Given the description of an element on the screen output the (x, y) to click on. 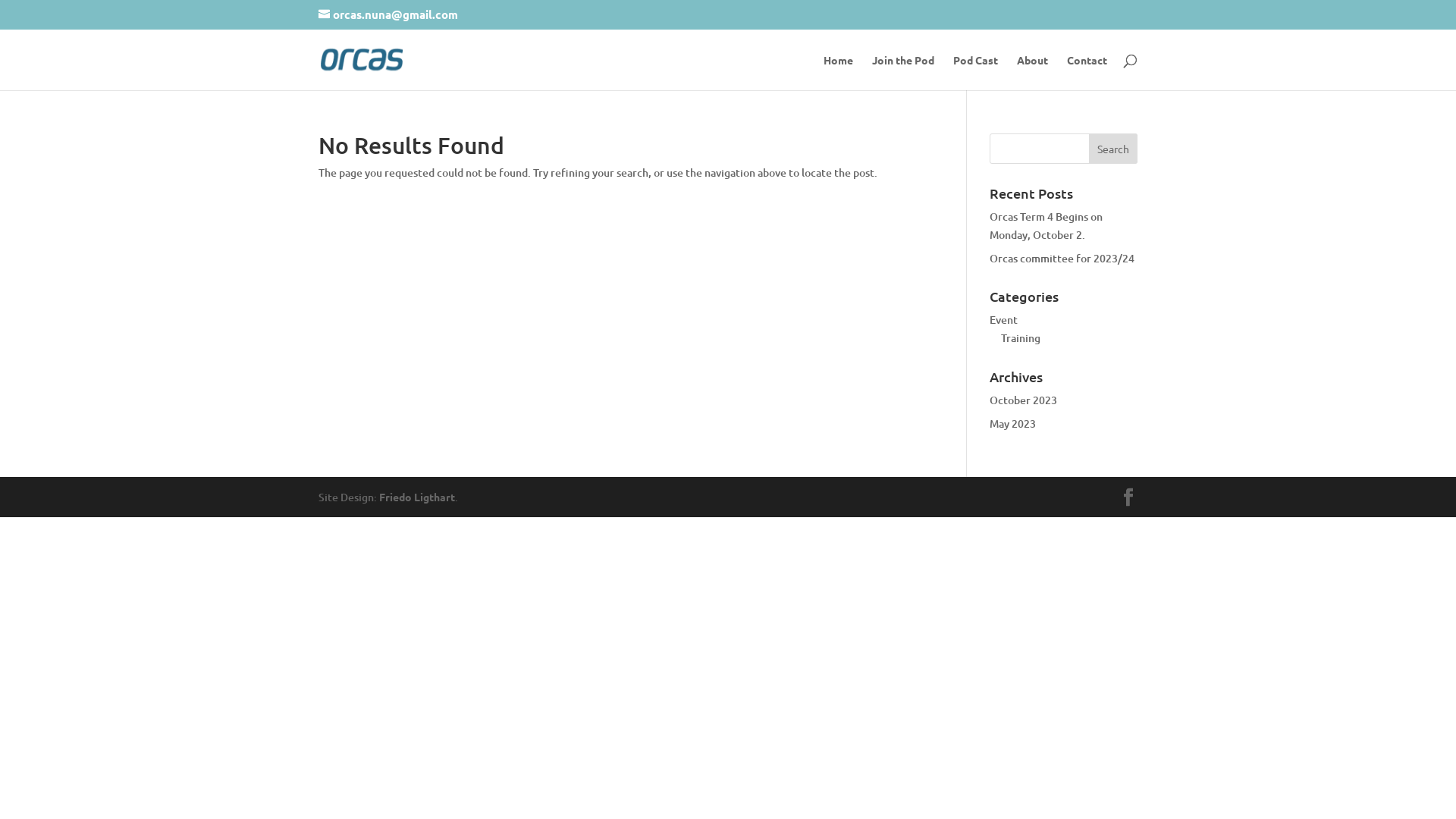
Join the Pod Element type: text (903, 72)
Friedo Ligthart Element type: text (417, 496)
orcas.nuna@gmail.com Element type: text (388, 13)
Event Element type: text (1003, 319)
Orcas Term 4 Begins on Monday, October 2. Element type: text (1045, 225)
October 2023 Element type: text (1023, 399)
Training Element type: text (1020, 337)
Search Element type: text (1112, 148)
Home Element type: text (838, 72)
Orcas committee for 2023/24 Element type: text (1061, 258)
Contact Element type: text (1086, 72)
Pod Cast Element type: text (975, 72)
May 2023 Element type: text (1012, 423)
About Element type: text (1032, 72)
